Given the description of an element on the screen output the (x, y) to click on. 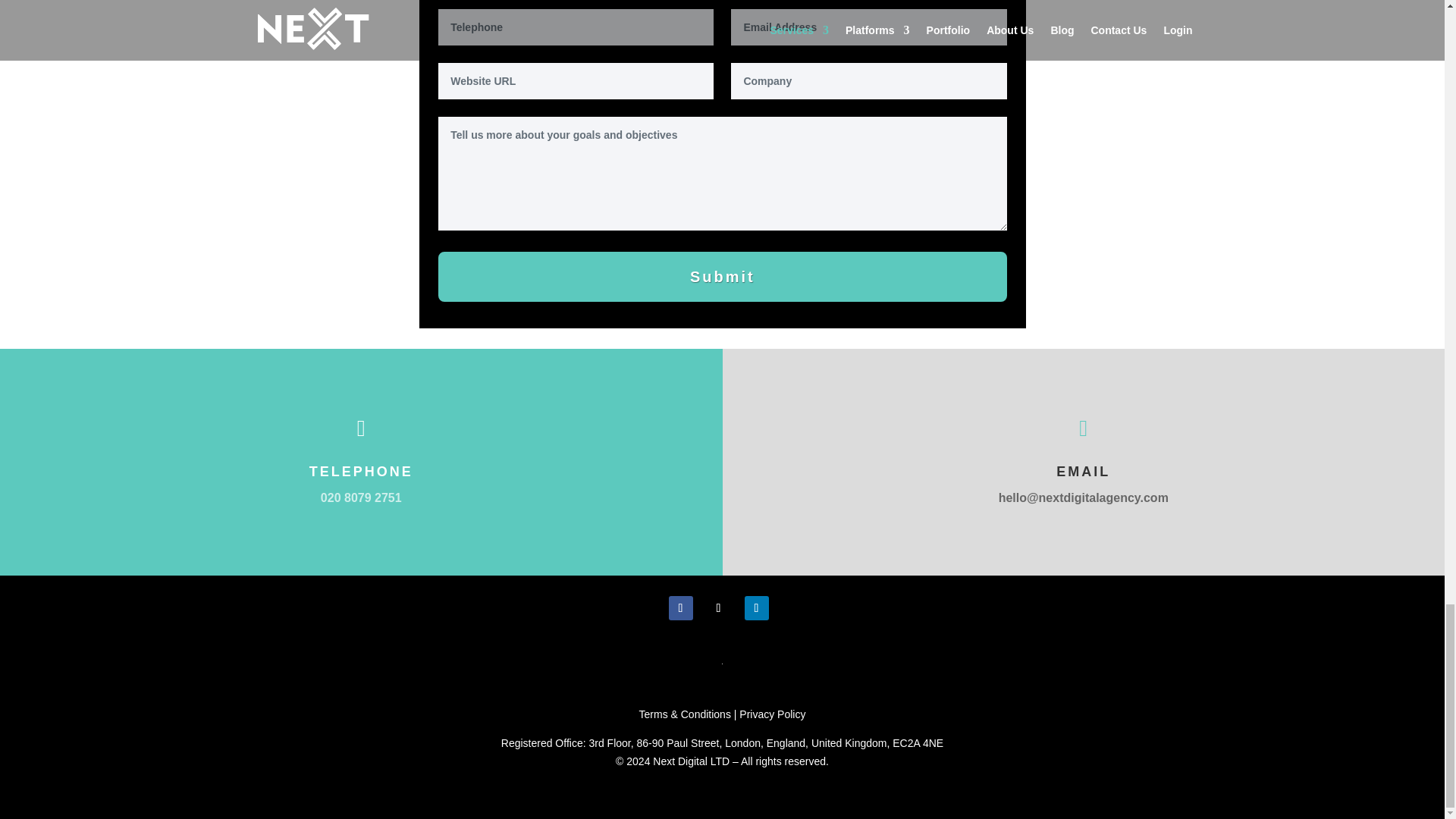
Privacy Policy (772, 714)
Submit (722, 276)
Follow on LinkedIn (756, 607)
Follow on X (718, 607)
Follow on Facebook (680, 607)
